Given the description of an element on the screen output the (x, y) to click on. 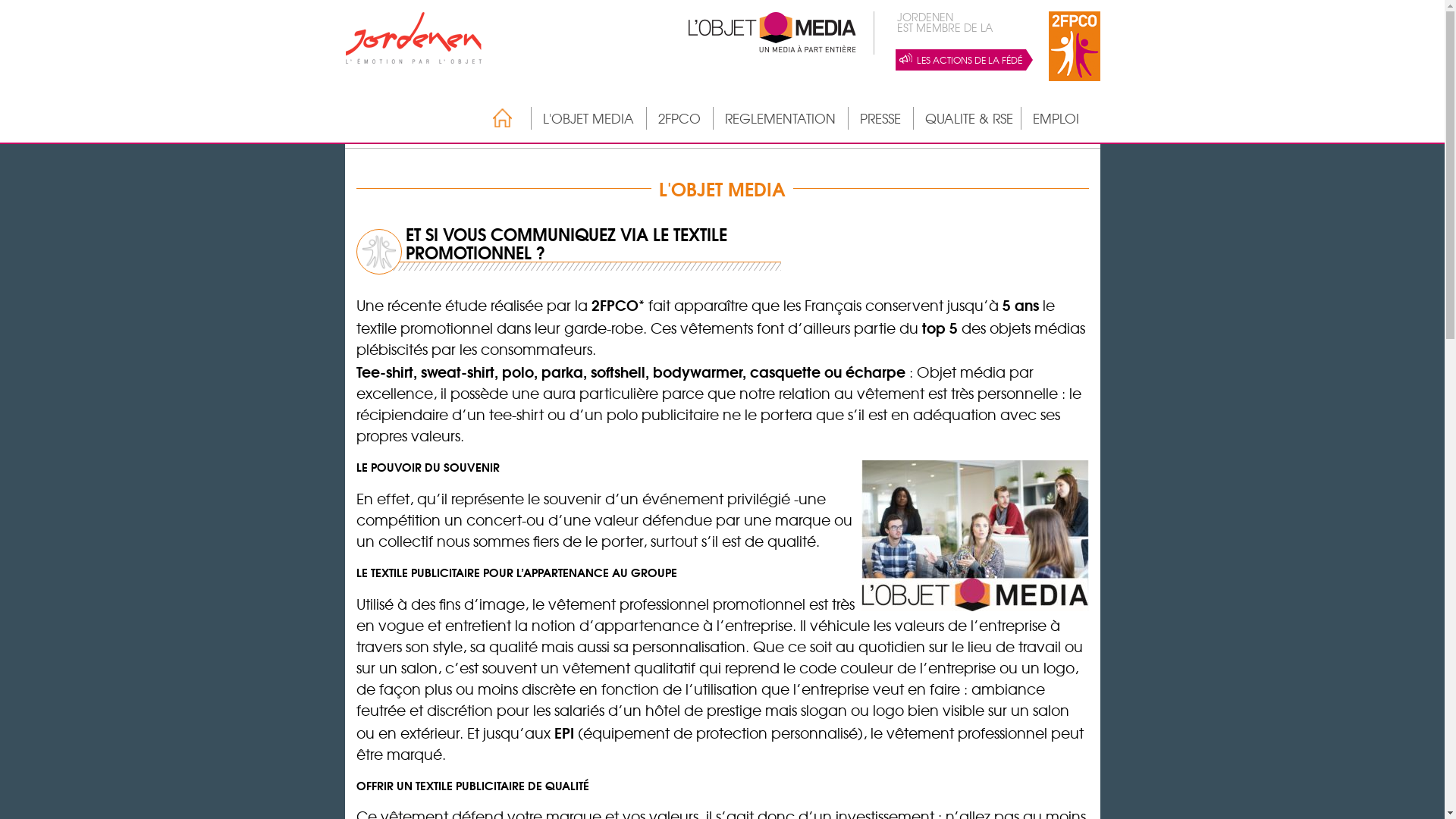
Accueil Element type: hover (494, 117)
